Given the description of an element on the screen output the (x, y) to click on. 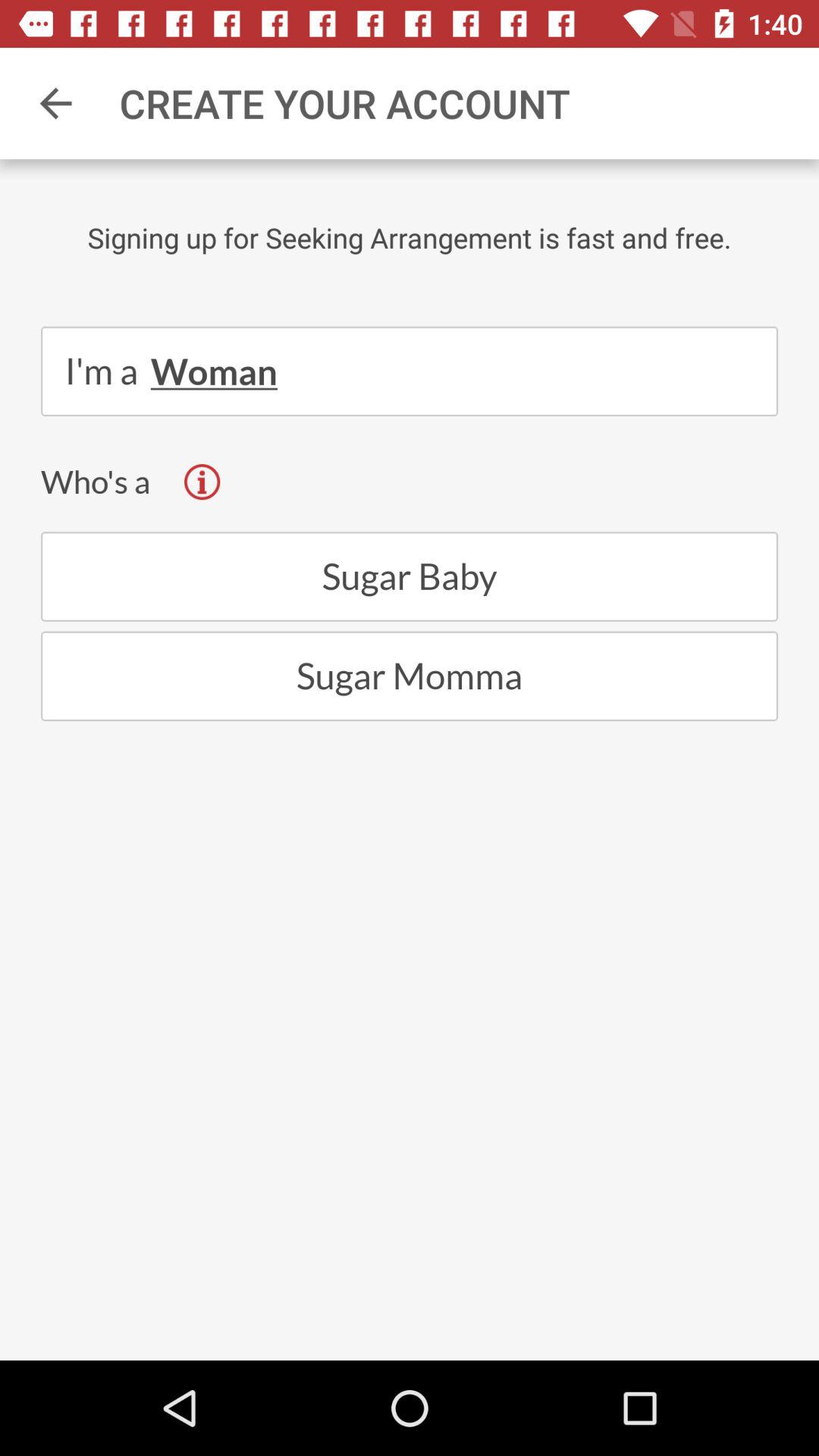
tap the item below sugar momma item (409, 1230)
